Given the description of an element on the screen output the (x, y) to click on. 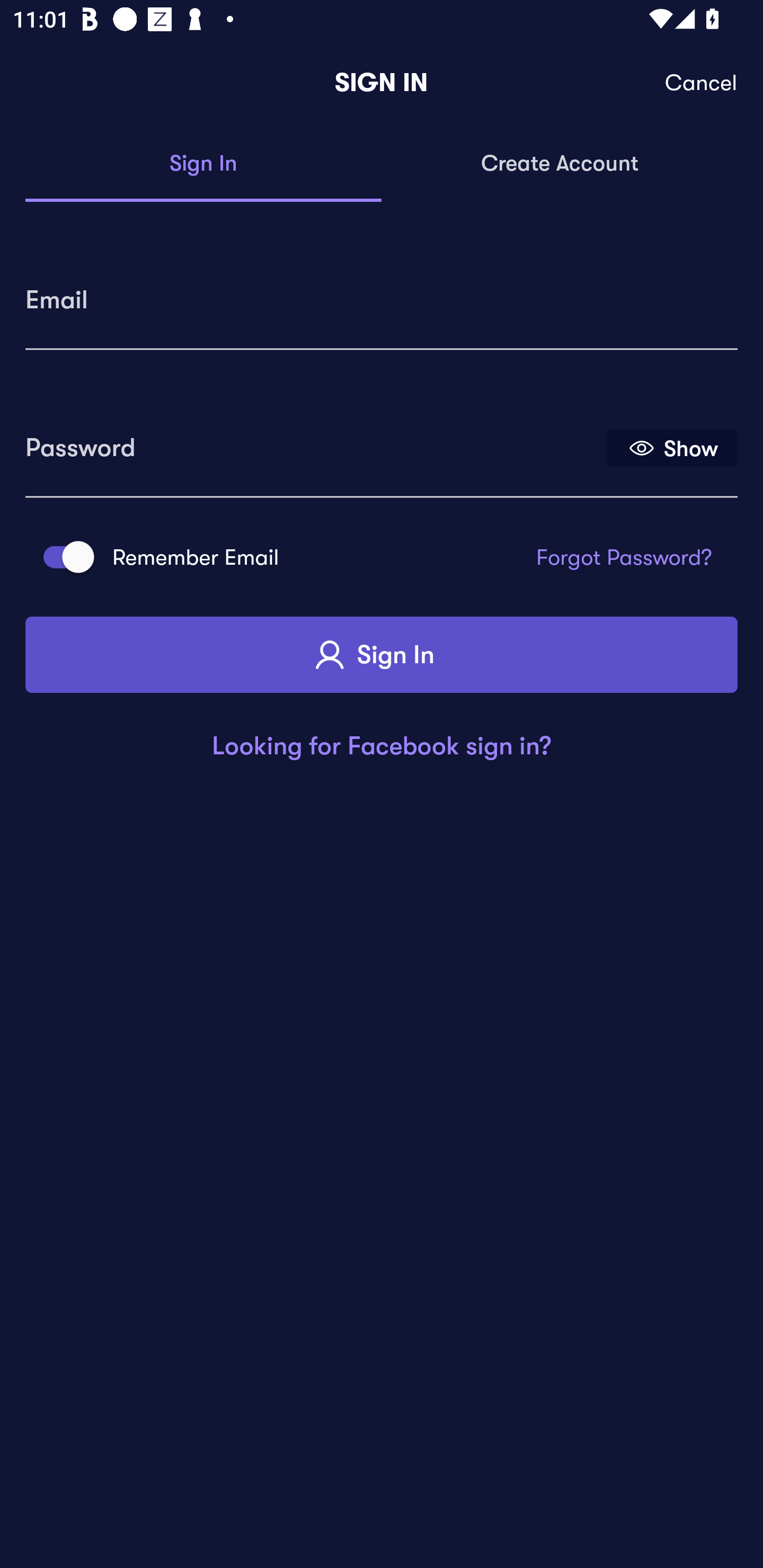
Cancel (701, 82)
Sign In (203, 164)
Create Account (559, 164)
Email (381, 293)
Password (314, 441)
Show Password Show (671, 447)
Remember Email (62, 557)
Sign In (381, 654)
